Given the description of an element on the screen output the (x, y) to click on. 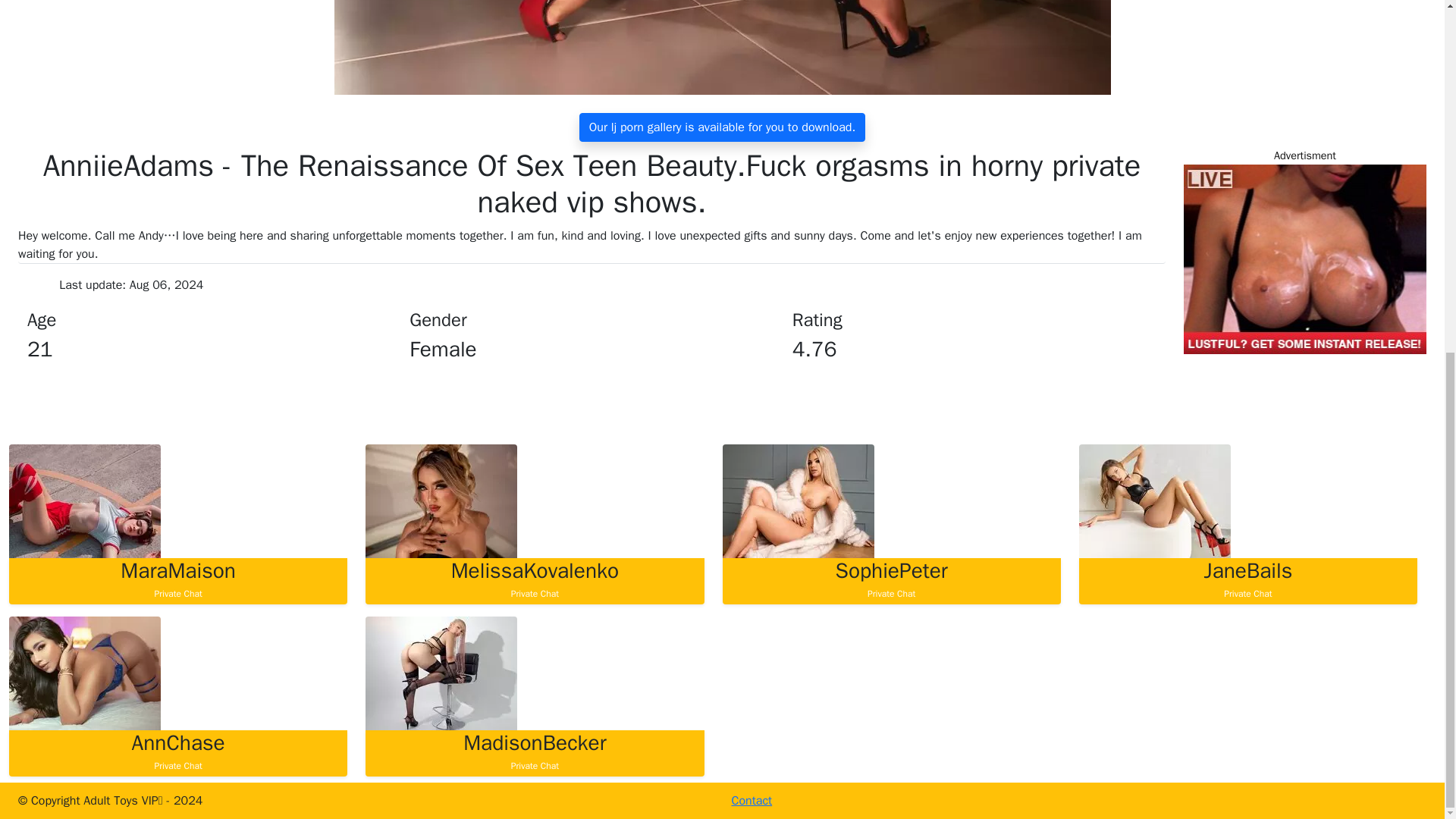
See Live Sex Camera (534, 578)
See Live Sex Camera (534, 578)
See Live Sex Camera (440, 500)
Our lj porn gallery is available for you to download. (890, 578)
See Live Sex Camera (721, 127)
Our lj porn gallery is available for you to download. (177, 578)
See Live Sex Camera (84, 500)
See Live Sex Camera (177, 751)
Contact (890, 578)
